Given the description of an element on the screen output the (x, y) to click on. 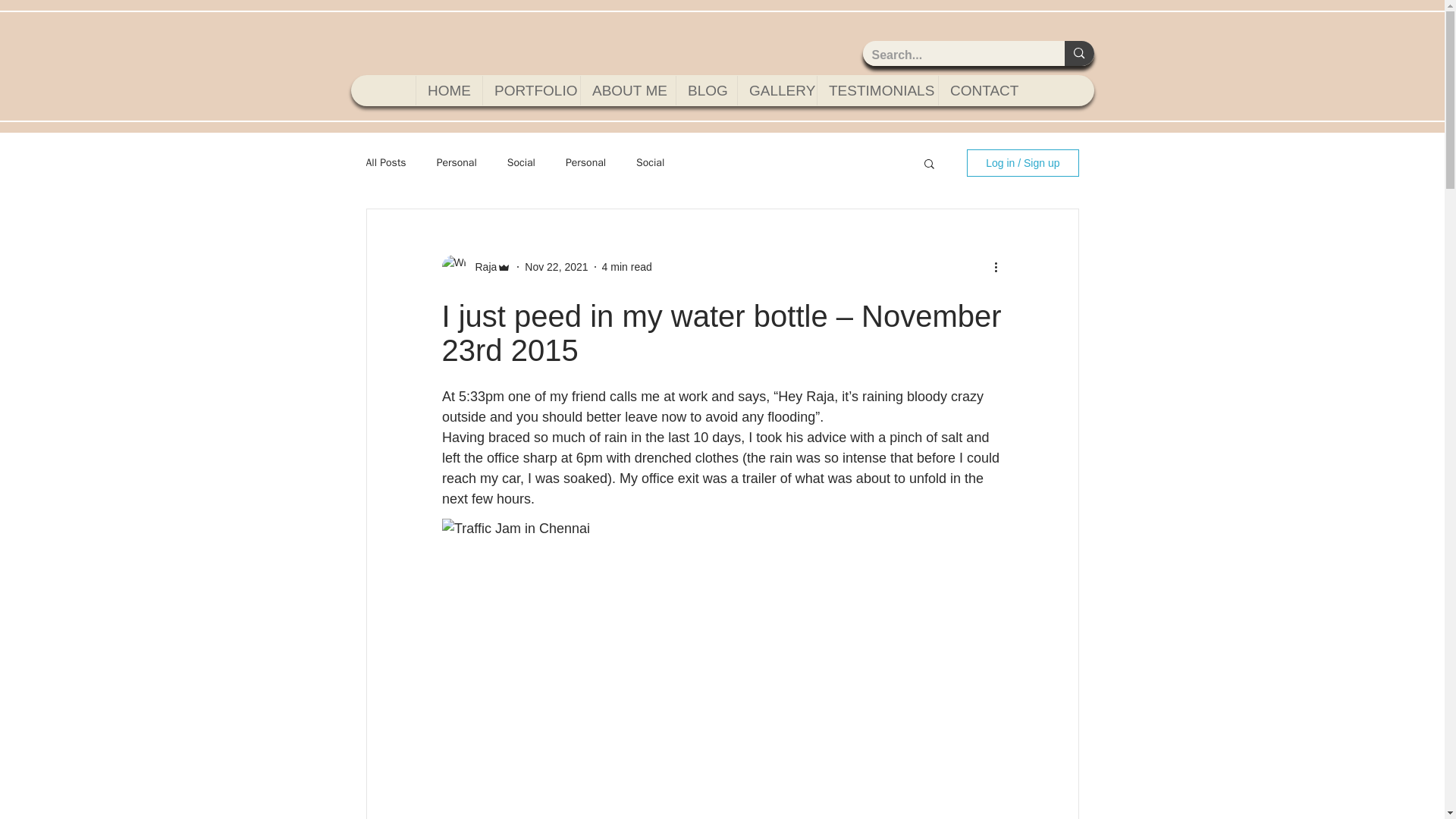
Personal (585, 162)
CONTACT (983, 90)
4 min read (627, 266)
Raja (480, 267)
Nov 22, 2021 (556, 266)
ABOUT ME (627, 90)
BLOG (705, 90)
Social (520, 162)
PORTFOLIO (530, 90)
Personal (456, 162)
HOME (447, 90)
TESTIMONIALS (876, 90)
GALLERY (776, 90)
All Posts (385, 162)
Social (649, 162)
